Given the description of an element on the screen output the (x, y) to click on. 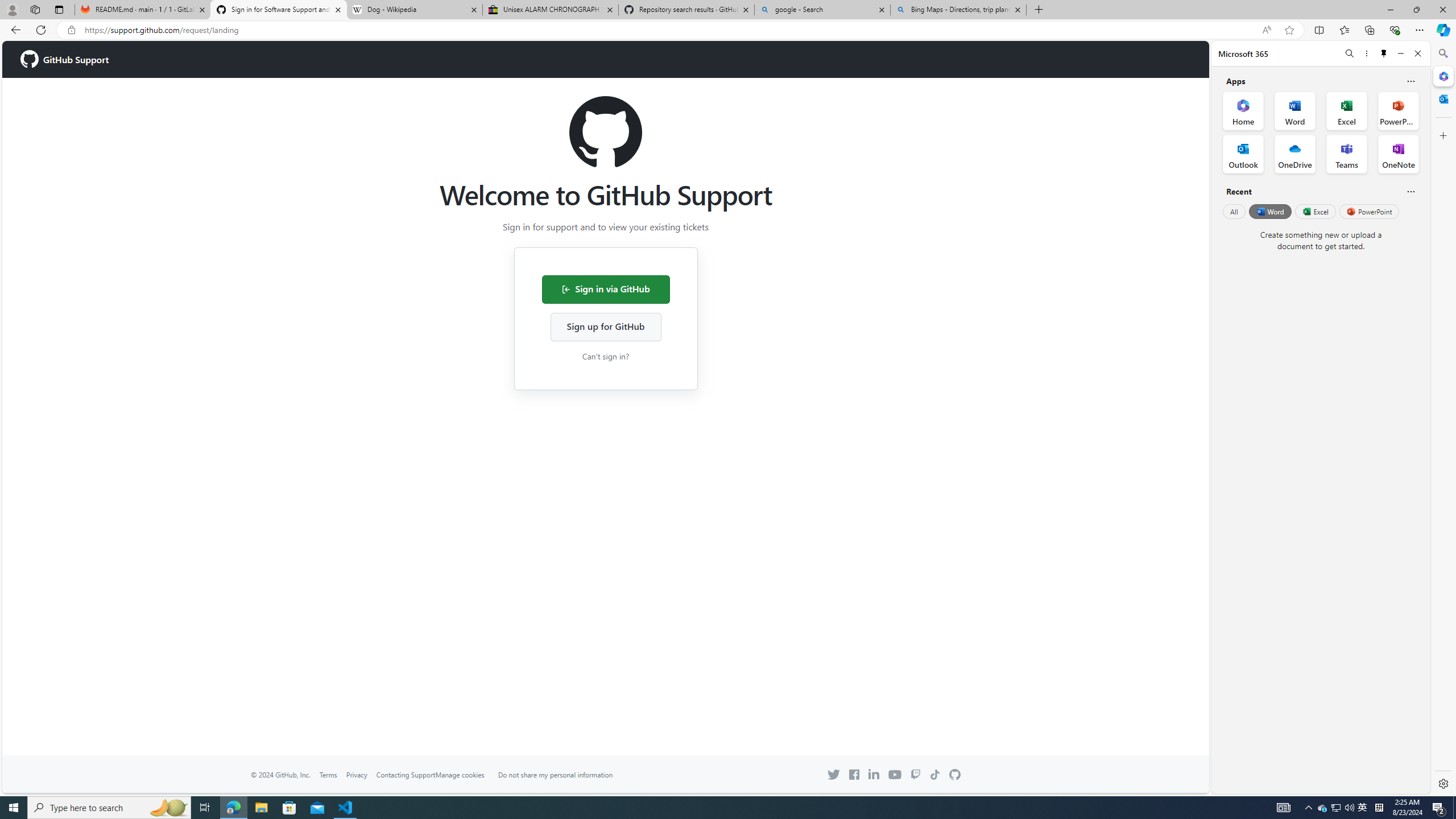
Home Office App (1243, 110)
Excel (1315, 210)
GitHub on LinkedIn (873, 773)
Sign up for GitHub (605, 326)
YouTube icon (894, 773)
Manage cookies (459, 774)
